Given the description of an element on the screen output the (x, y) to click on. 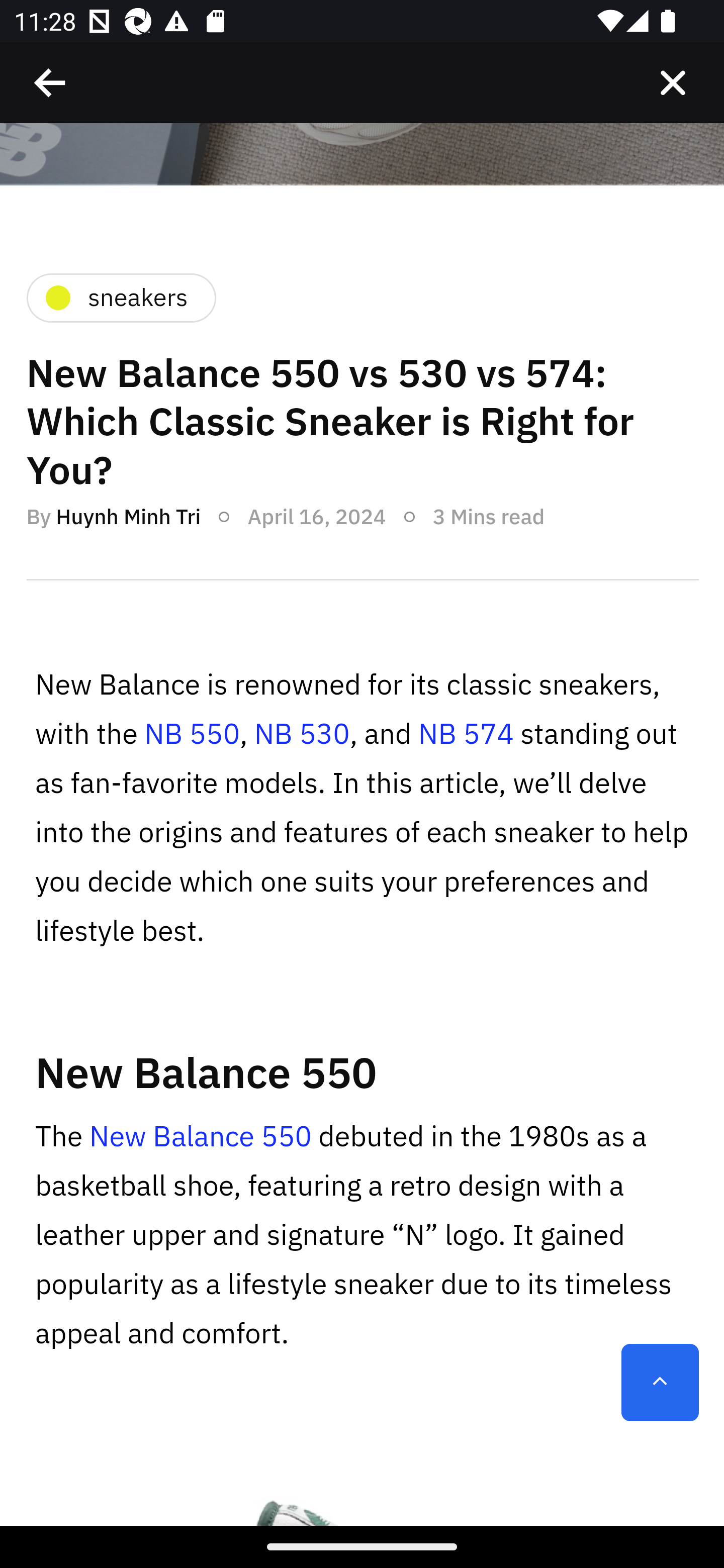
 (50, 83)
 (672, 83)
sneakers (120, 298)
Huynh Minh Tri (127, 518)
NB 550 (192, 734)
NB 530 (301, 734)
NB 574 (465, 734)
New Balance 550 (200, 1137)
Scroll to top  (659, 1382)
